Given the description of an element on the screen output the (x, y) to click on. 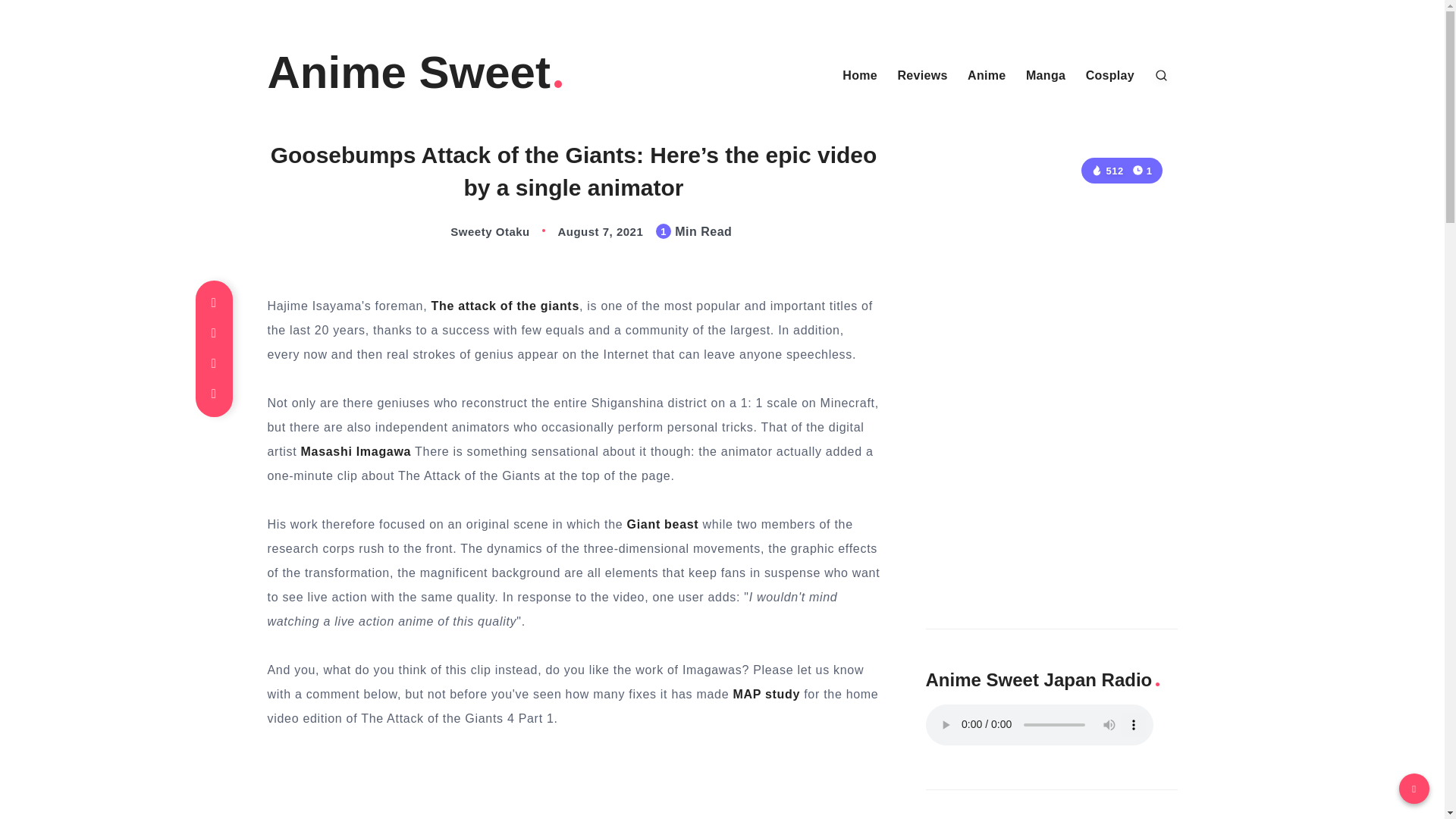
Anime (987, 75)
Anime Sweet (415, 72)
Home (860, 75)
Sweety Otaku (474, 231)
Manga (1045, 75)
1 Min Read (1142, 170)
Author: Sweety Otaku (474, 231)
512 Views (1106, 170)
Reviews (921, 75)
Cosplay (1110, 75)
